Given the description of an element on the screen output the (x, y) to click on. 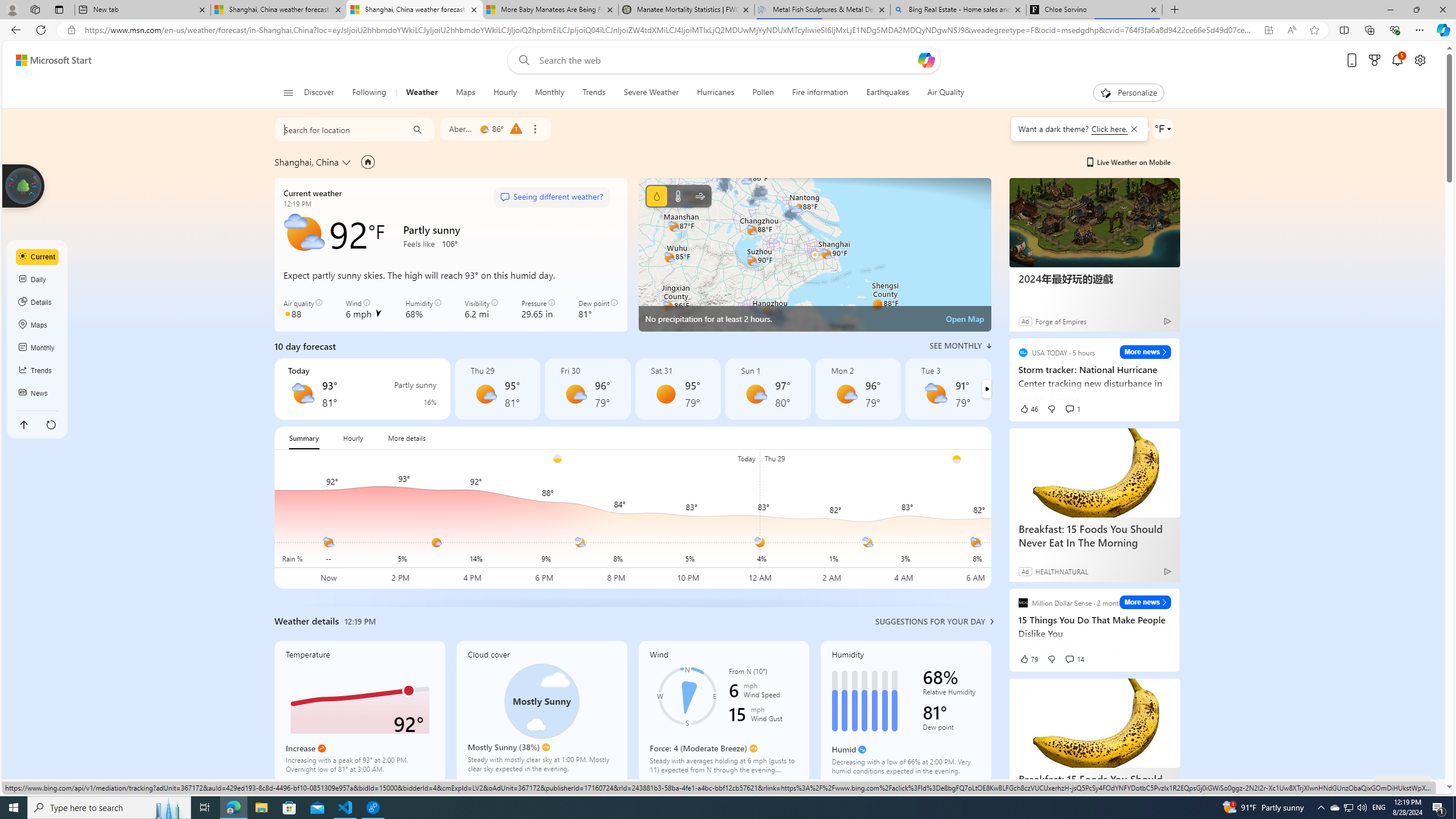
To get missing image descriptions, open the context menu. (1105, 92)
Air quality 88 (303, 309)
Set as primary location (367, 161)
Skip to footer (46, 59)
Wind (699, 195)
News (37, 393)
Workspaces (34, 9)
Class: cloudCoverSvg-DS-ps0R9q (541, 700)
New tab (142, 9)
Pressure 29.65 in (538, 309)
Shanghai, China (306, 161)
Shanghai, China weather forecast | Microsoft Weather (414, 9)
Join us in planting real trees to help our planet! (23, 185)
View site information (70, 29)
